Given the description of an element on the screen output the (x, y) to click on. 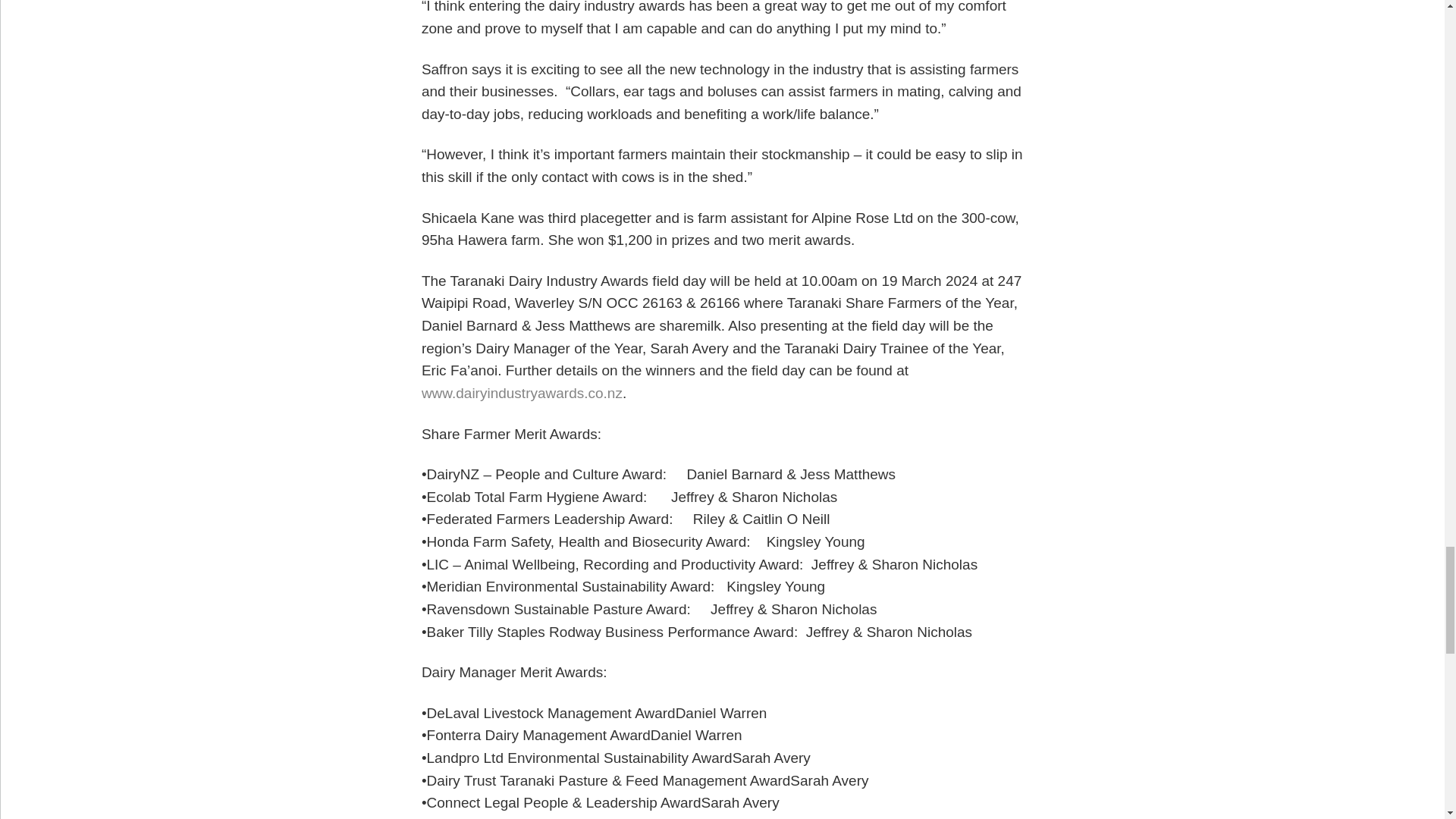
www.dairyindustryawards.co.nz (522, 392)
